Given the description of an element on the screen output the (x, y) to click on. 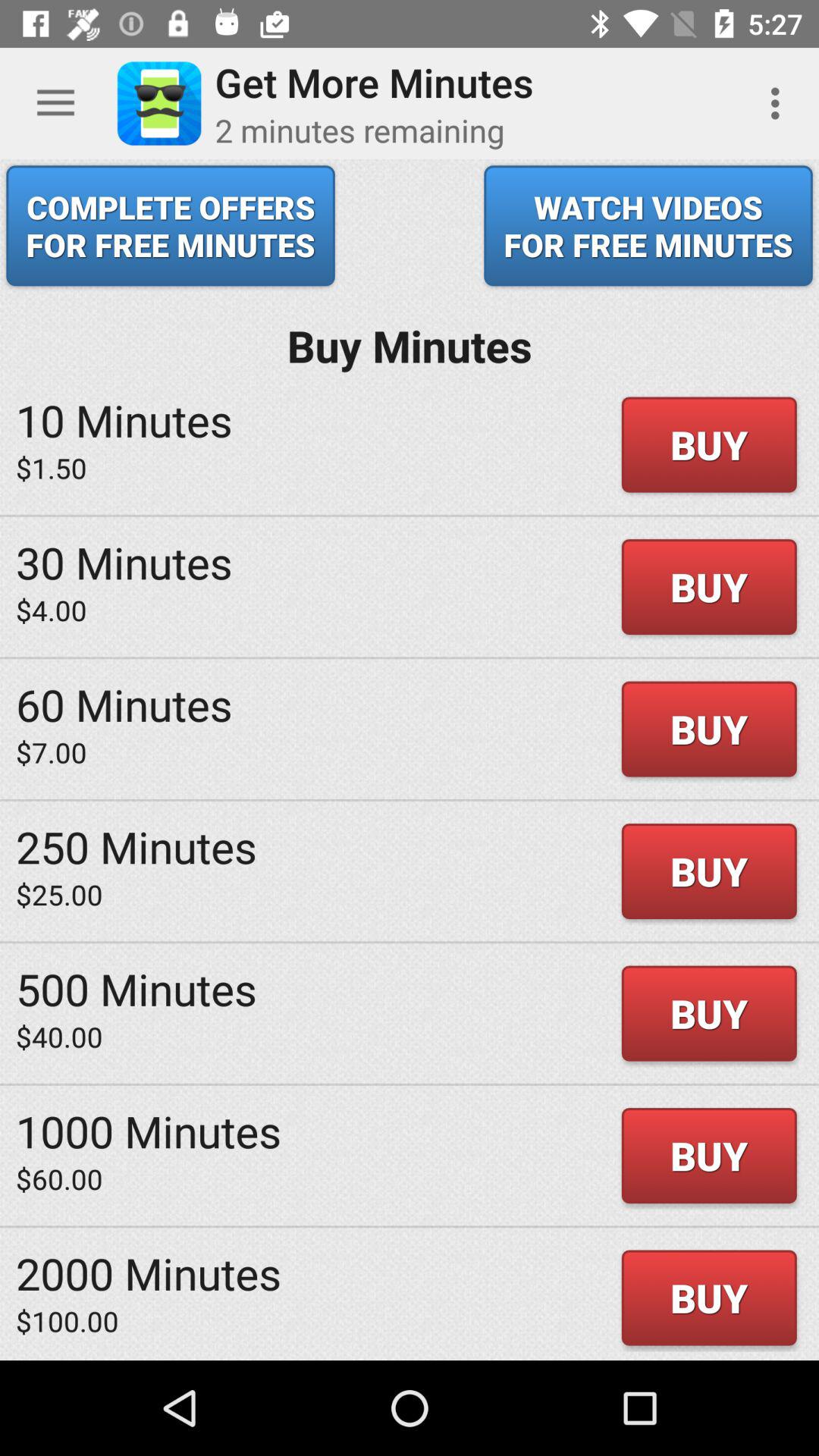
turn off the icon to the left of the buy item (136, 846)
